Given the description of an element on the screen output the (x, y) to click on. 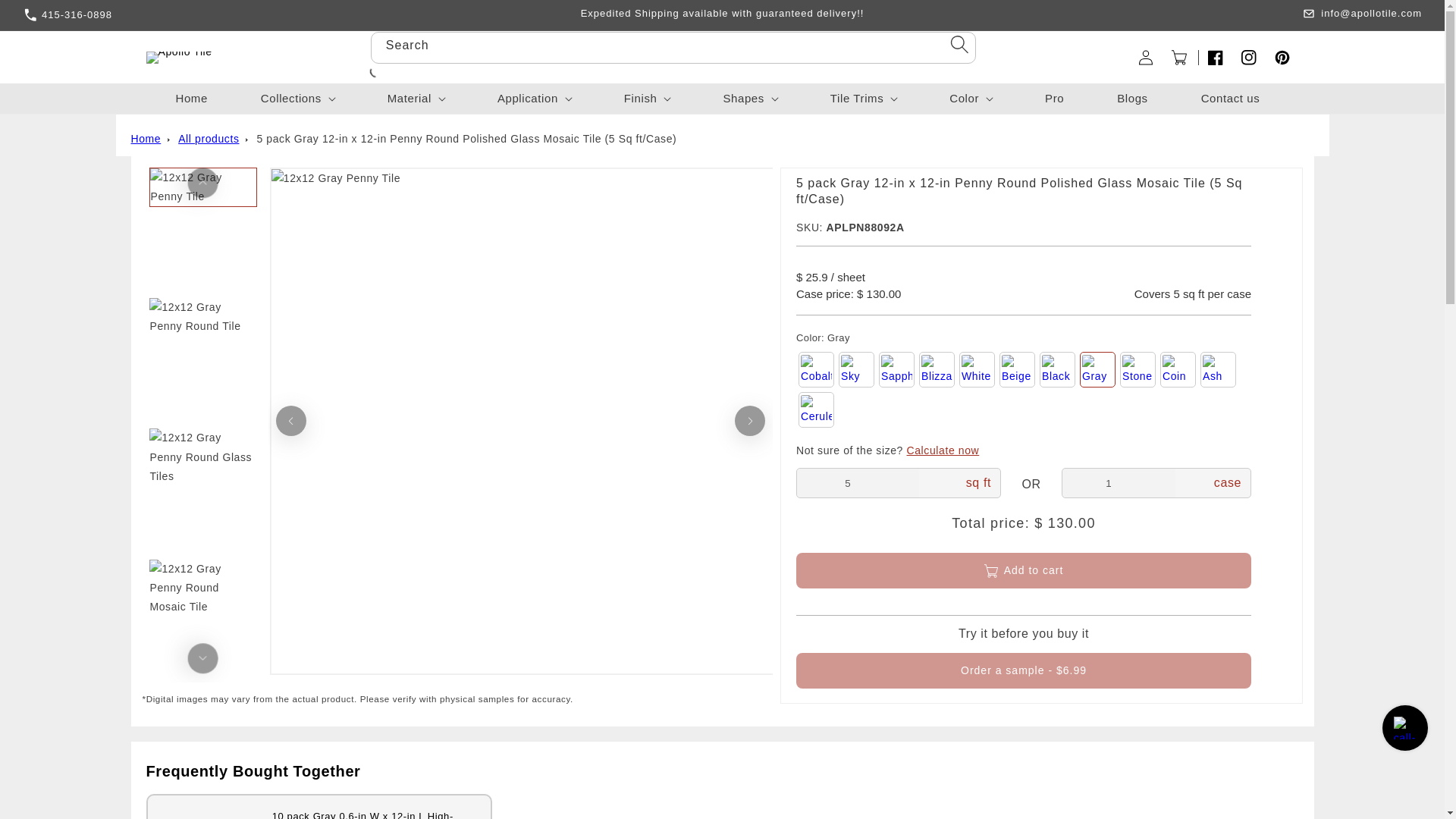
Black (1057, 369)
5 (857, 482)
Stone Blue (1137, 369)
Coin Gray (1177, 369)
Sapphire Blue (896, 369)
Sky Blue (856, 369)
Cerulean Blue (815, 409)
Ash Gray (1217, 369)
1 (1118, 482)
Beige (1016, 369)
